Given the description of an element on the screen output the (x, y) to click on. 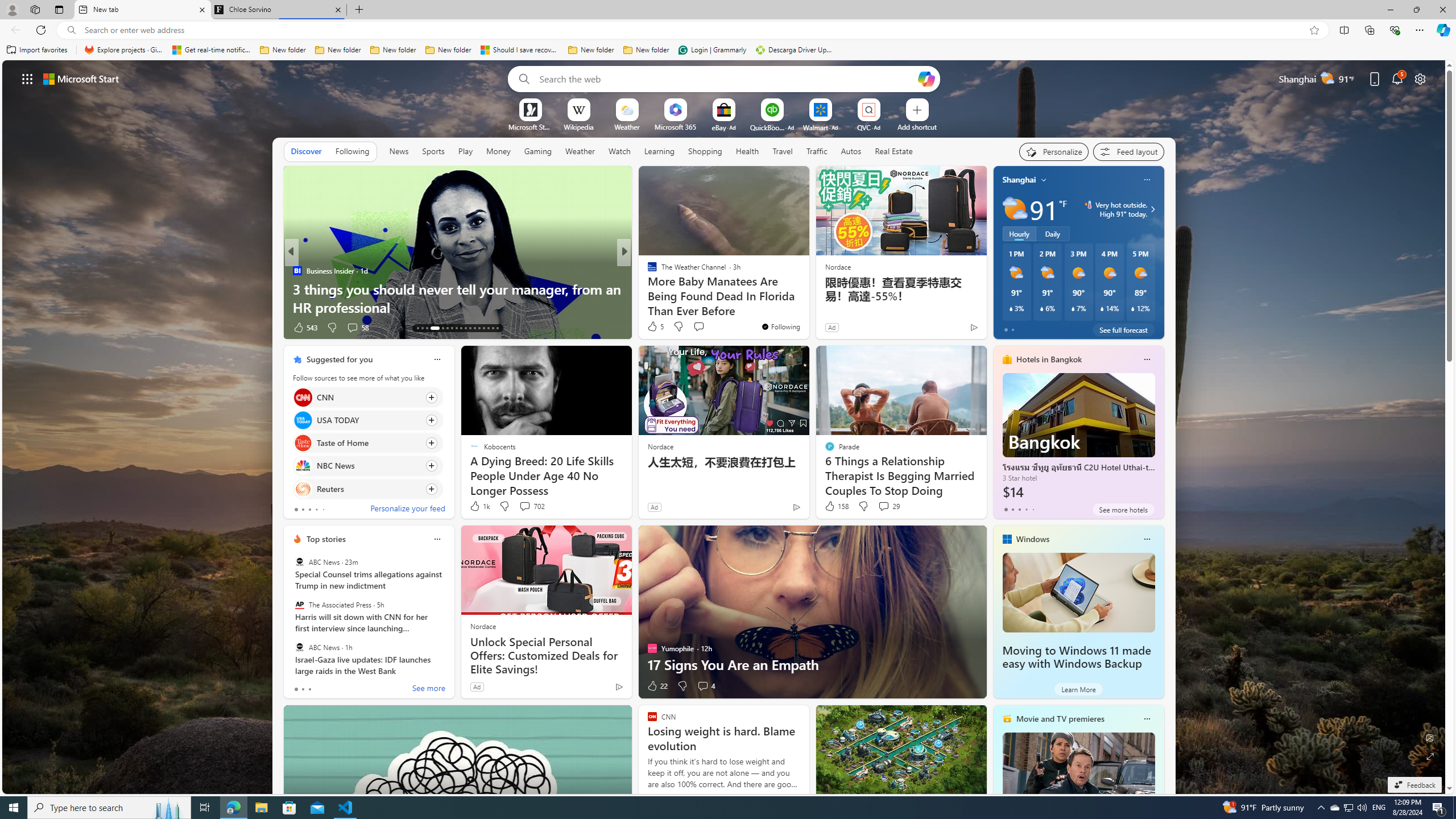
Hourly (1018, 233)
Learning (658, 151)
View comments 702 Comment (523, 505)
Microsoft 365 (675, 126)
News (398, 151)
See full forecast (1123, 329)
Play (465, 151)
5 Like (655, 326)
Hotels in Bangkok (1048, 359)
